Given the description of an element on the screen output the (x, y) to click on. 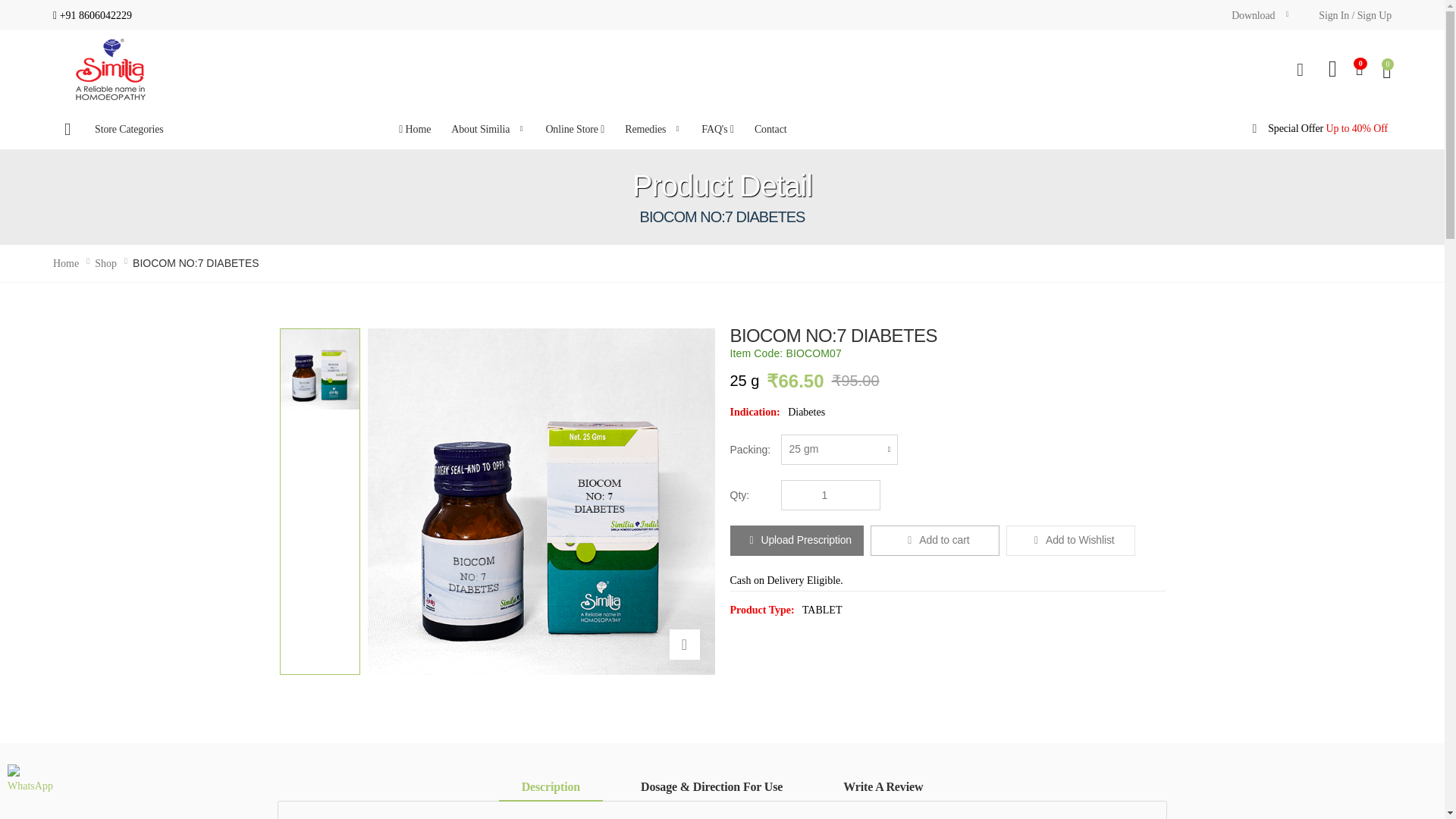
Home (414, 128)
1 (830, 494)
Wishlist (1070, 540)
Store Categories (157, 128)
Download (1259, 15)
Browse Categories (157, 128)
WhatsApp (29, 787)
About Similia (488, 128)
Similia (109, 69)
Remedies (652, 128)
Online Store (574, 128)
